Given the description of an element on the screen output the (x, y) to click on. 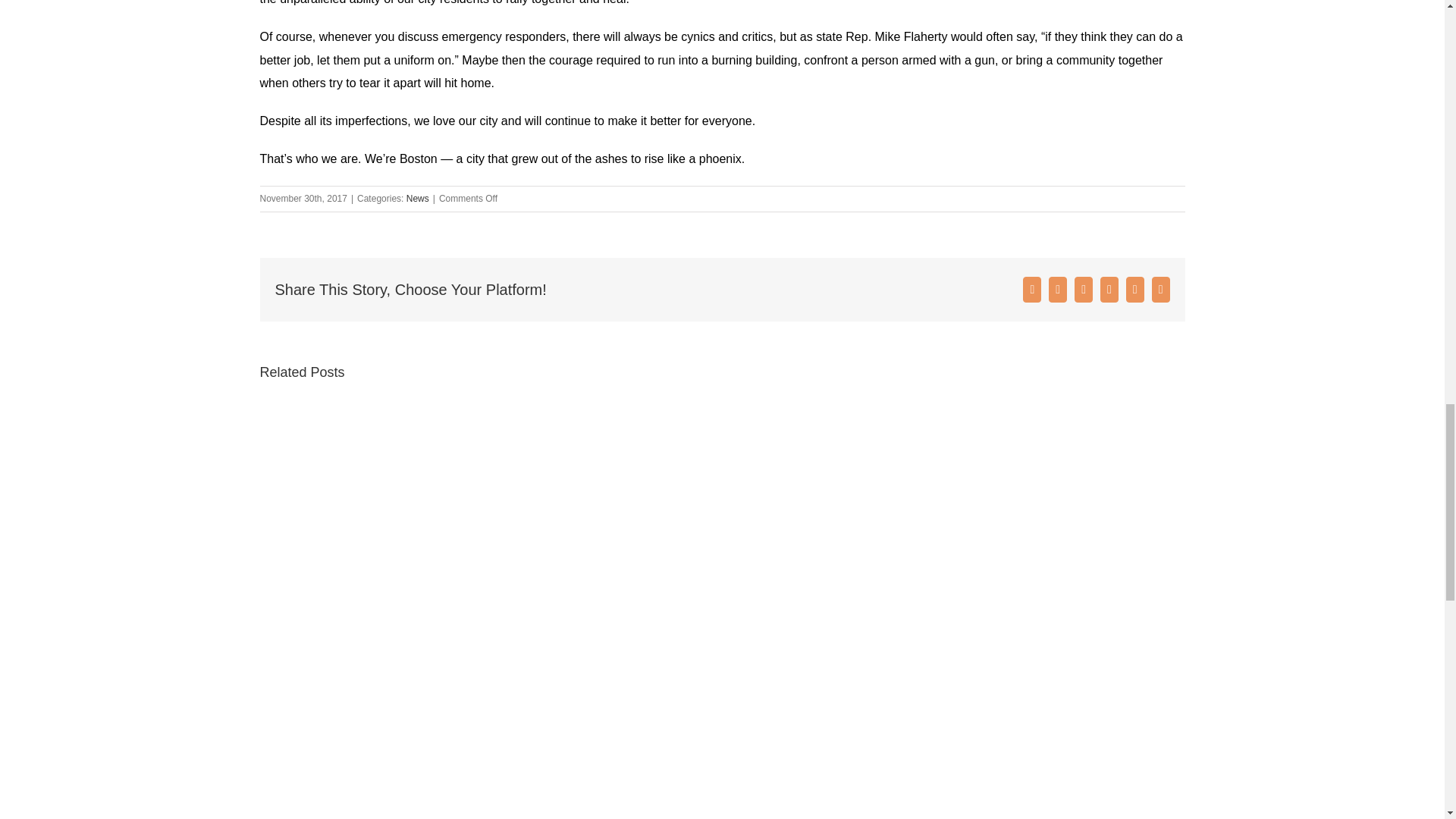
Facebook (1032, 289)
LinkedIn (1109, 289)
LinkedIn (1109, 289)
Email (1160, 289)
Pinterest (1134, 289)
News (417, 198)
Reddit (1083, 289)
Reddit (1083, 289)
Pinterest (1134, 289)
Email (1160, 289)
Twitter (1057, 289)
Facebook (1032, 289)
Twitter (1057, 289)
